Given the description of an element on the screen output the (x, y) to click on. 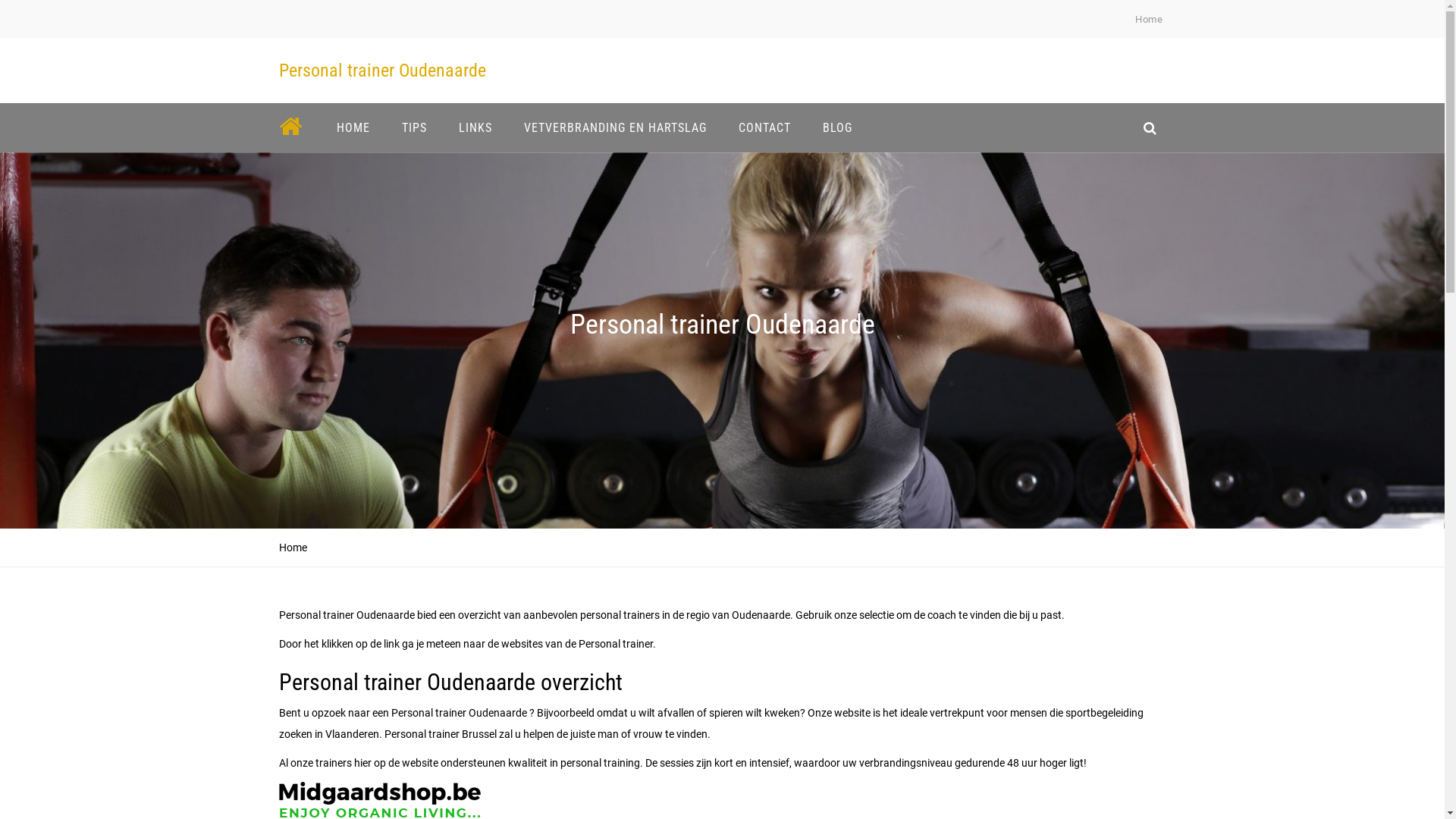
TIPS Element type: text (413, 127)
BLOG Element type: text (837, 127)
HOME Element type: text (352, 127)
Personal trainer Oudenaarde Element type: text (382, 70)
Home Element type: text (1148, 19)
LINKS Element type: text (475, 127)
search_icon Element type: hover (1148, 127)
VETVERBRANDING EN HARTSLAG Element type: text (615, 127)
CONTACT Element type: text (764, 127)
